Given the description of an element on the screen output the (x, y) to click on. 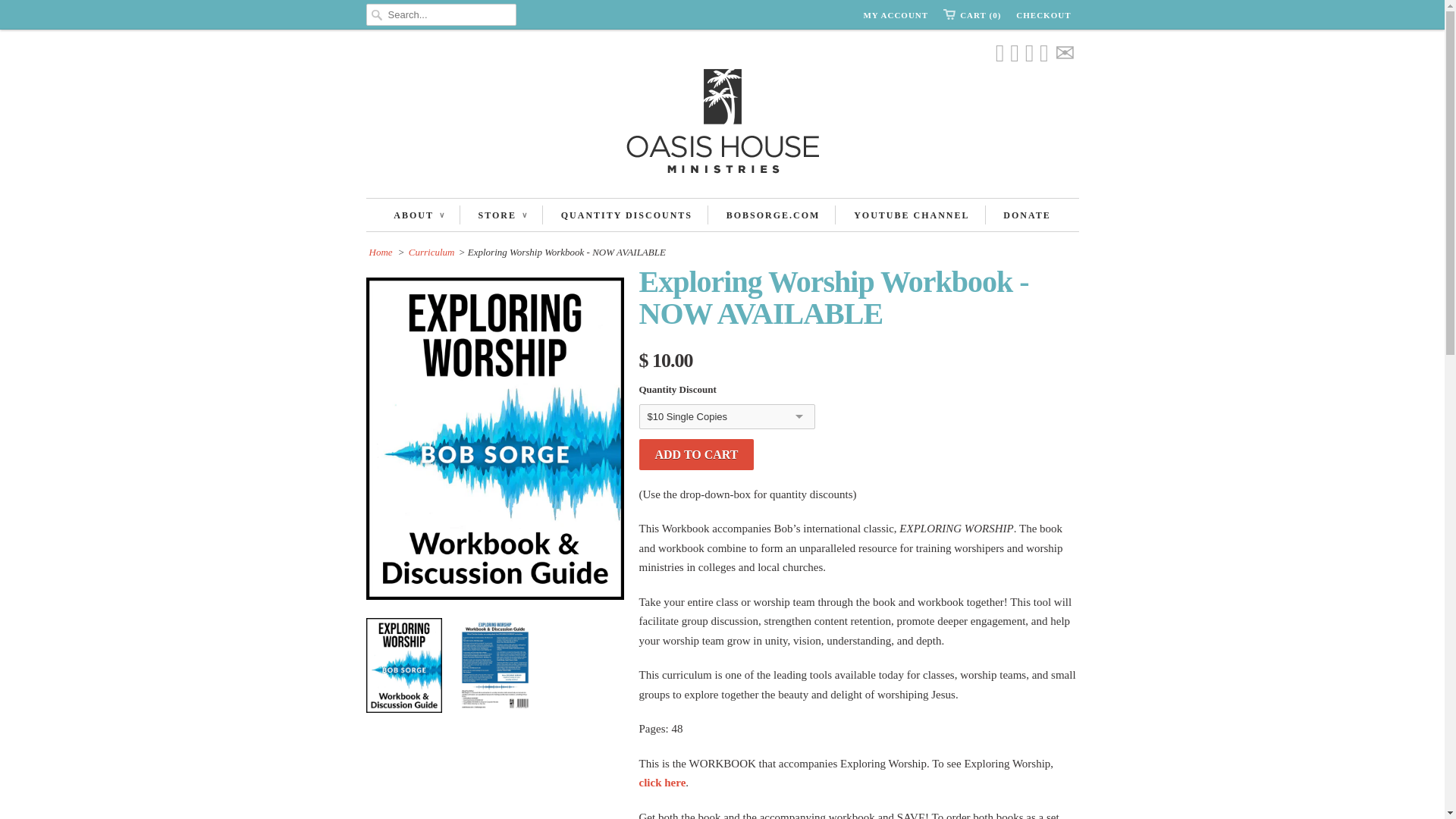
Oasis House  (721, 124)
CHECKOUT (1043, 15)
Bob Sorge on YouTube (1029, 53)
Email Oasis House  (1064, 53)
Shopping Cart (972, 15)
My Account (895, 15)
MY ACCOUNT (895, 15)
Bob Sorge on Facebook (1014, 53)
Add to Cart (696, 453)
Bob Sorge on Twitter (999, 53)
Oasis House  on Instagram (1043, 53)
Checkout (1043, 15)
